Given the description of an element on the screen output the (x, y) to click on. 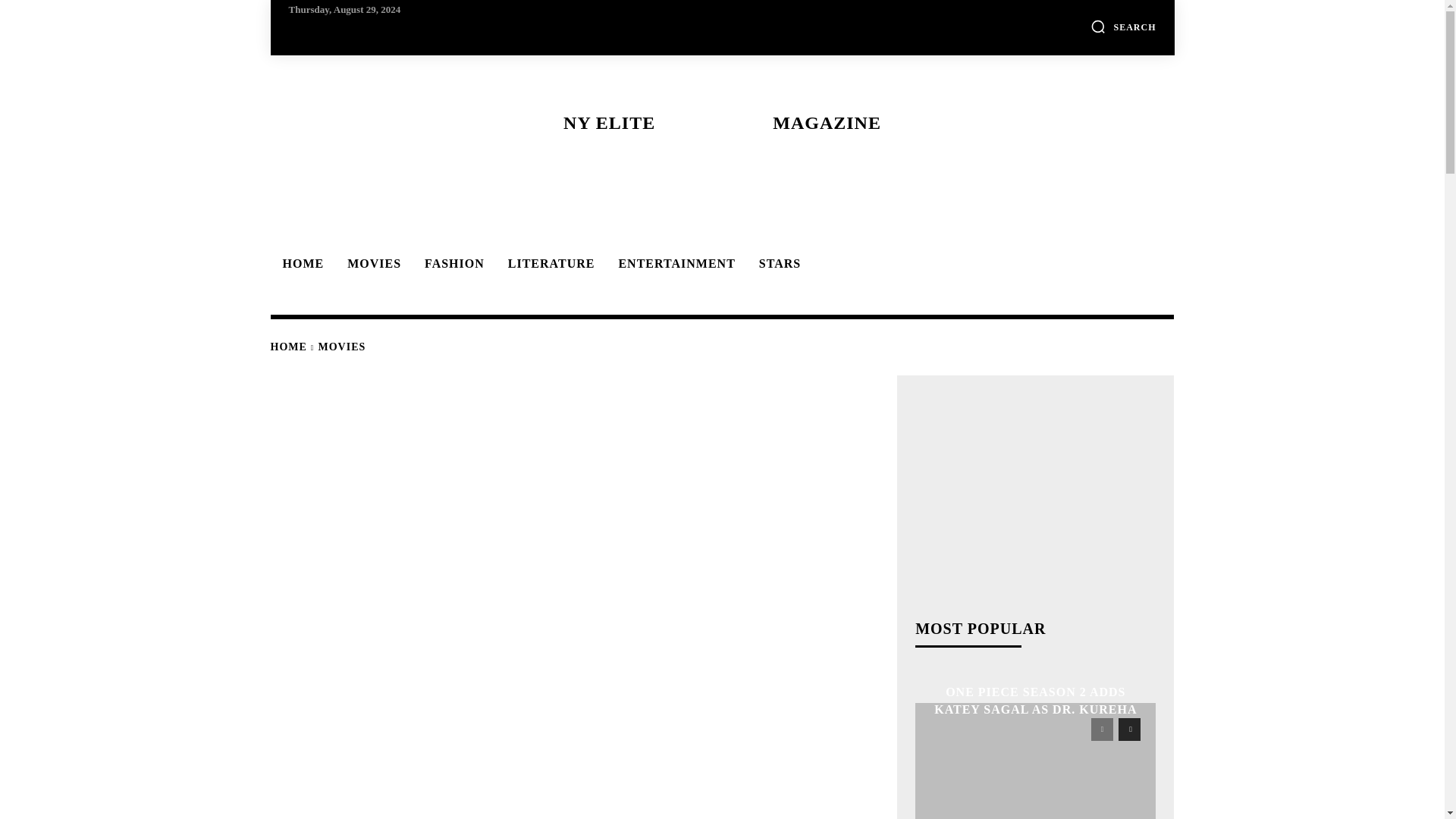
MOVIES (721, 122)
FASHION (342, 346)
ENTERTAINMENT (452, 263)
STARS (673, 263)
View all posts in Movies (777, 263)
HOME (342, 346)
HOME (287, 346)
LITERATURE (300, 263)
MOVIES (549, 263)
